Given the description of an element on the screen output the (x, y) to click on. 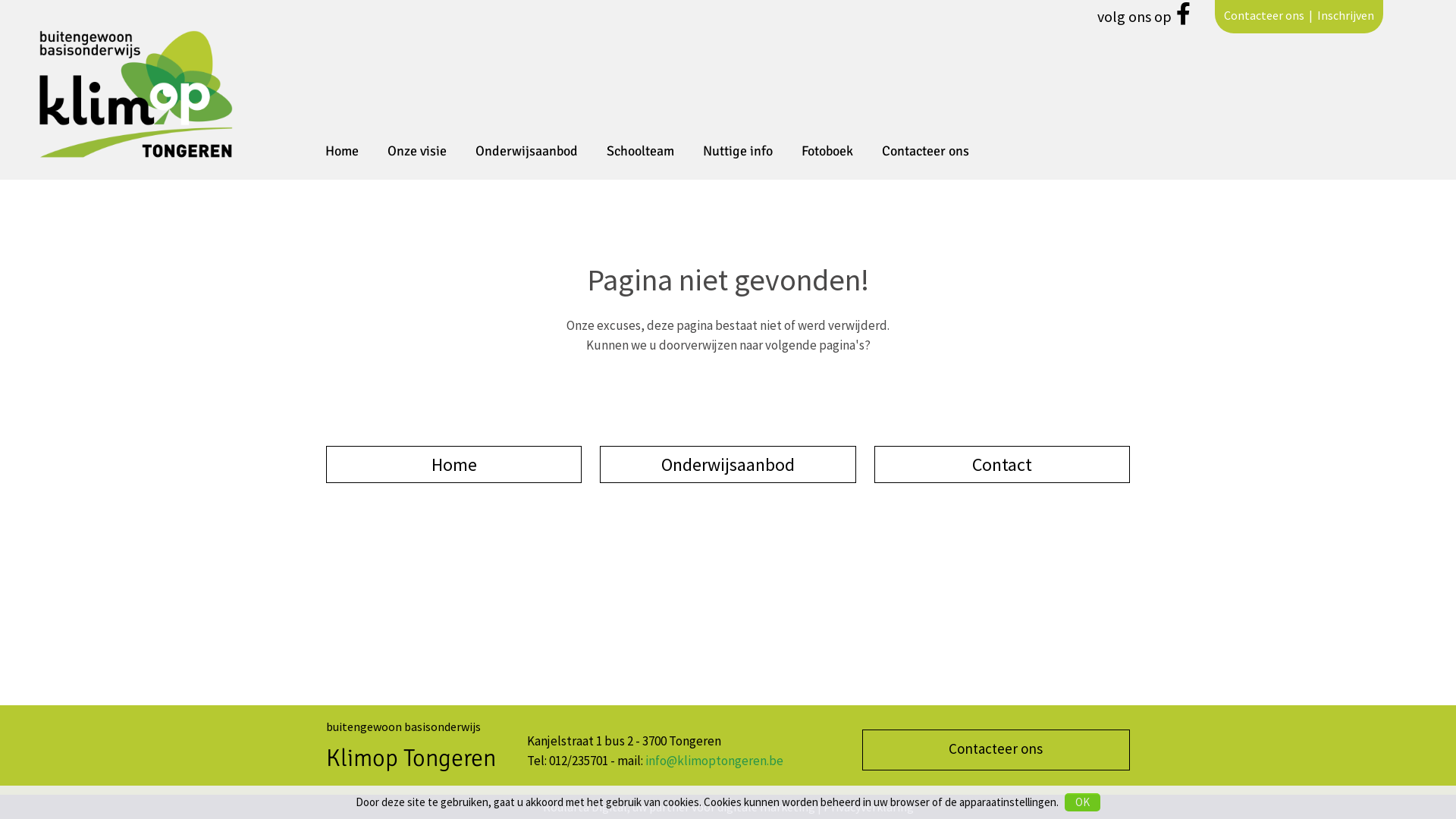
Roularta Digital, uw partner voor digitale marketing Element type: text (678, 806)
OK Element type: text (1082, 802)
Onderwijsaanbod Element type: text (727, 464)
Home Element type: text (453, 464)
info@klimoptongeren.be Element type: text (714, 760)
Privacyverklaring Element type: text (868, 806)
Fotoboek Element type: text (827, 157)
Contact Element type: text (1001, 464)
Contacteer ons Element type: text (1263, 14)
Nuttige info Element type: text (737, 157)
Onderwijsaanbod Element type: text (526, 157)
Home Element type: text (341, 157)
Onze visie Element type: text (416, 157)
Contacteer ons Element type: text (925, 157)
Schoolteam Element type: text (640, 157)
Inschrijven Element type: text (1345, 14)
Contacteer ons Element type: text (995, 749)
